Given the description of an element on the screen output the (x, y) to click on. 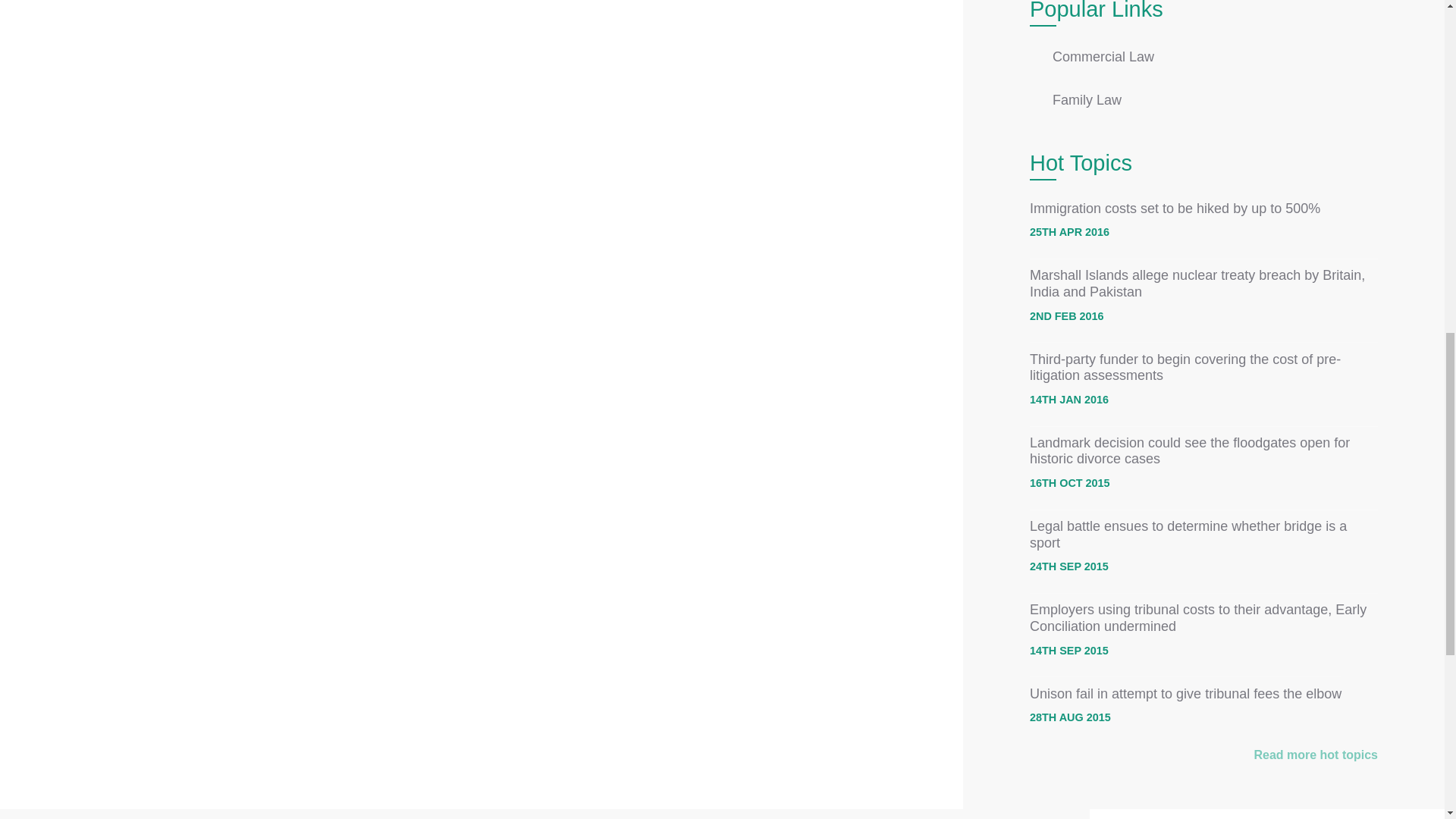
Unison fail in attempt to give tribunal fees the elbow (1184, 693)
Legal battle ensues to determine whether bridge is a sport (1187, 534)
Family Law (1086, 99)
Commercial Law (1103, 56)
